Given the description of an element on the screen output the (x, y) to click on. 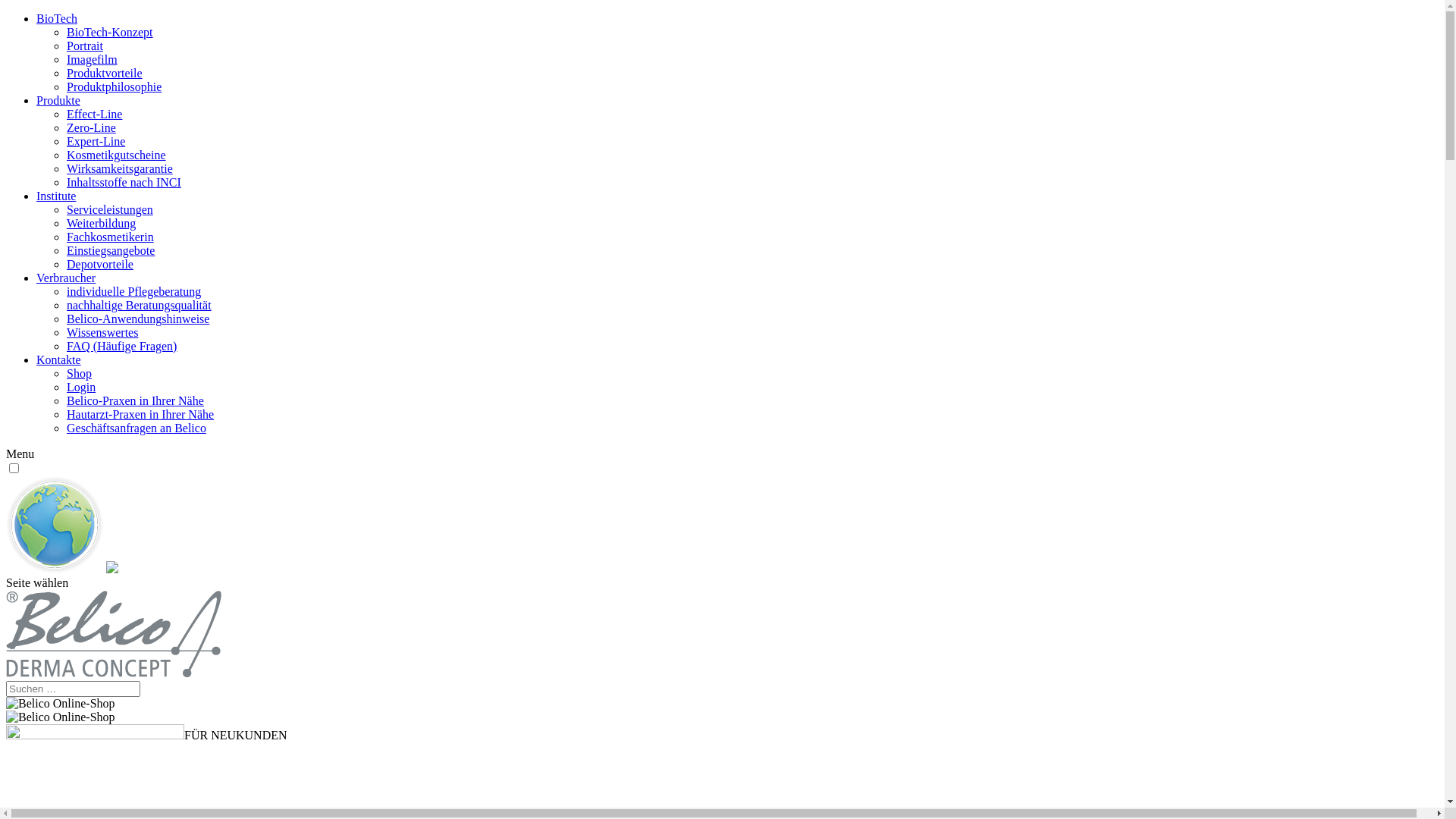
Zero-Line Element type: text (91, 127)
Effect-Line Element type: text (94, 113)
Fachkosmetikerin Element type: text (109, 236)
Produkte Element type: text (58, 100)
Belico-Anwendungshinweise Element type: text (137, 318)
Produktvorteile Element type: text (104, 72)
individuelle-Hautanamnese-768px Element type: hover (60, 717)
Einstiegsangebote Element type: text (110, 250)
Weiterbildung Element type: text (100, 222)
individuelle-Hautanamnese Element type: hover (60, 703)
Produktphilosophie Element type: text (113, 86)
Login Element type: text (80, 386)
Kosmetikgutscheine Element type: text (116, 154)
Serviceleistungen Element type: text (109, 209)
Kontakte Element type: text (58, 359)
Portrait Element type: text (84, 45)
Shop Element type: text (78, 373)
Imagefilm Element type: text (91, 59)
individuelle Pflegeberatung Element type: text (133, 291)
Inhaltsstoffe nach INCI Element type: text (123, 181)
Verbraucher Element type: text (65, 277)
BioTech-Konzept Element type: text (109, 31)
Institute Element type: text (55, 195)
Wirksamkeitsgarantie Element type: text (119, 168)
Wissenswertes Element type: text (102, 332)
Depotvorteile Element type: text (99, 263)
Suchen nach: Element type: hover (73, 688)
BioTech Element type: text (56, 18)
Expert-Line Element type: text (95, 140)
